Given the description of an element on the screen output the (x, y) to click on. 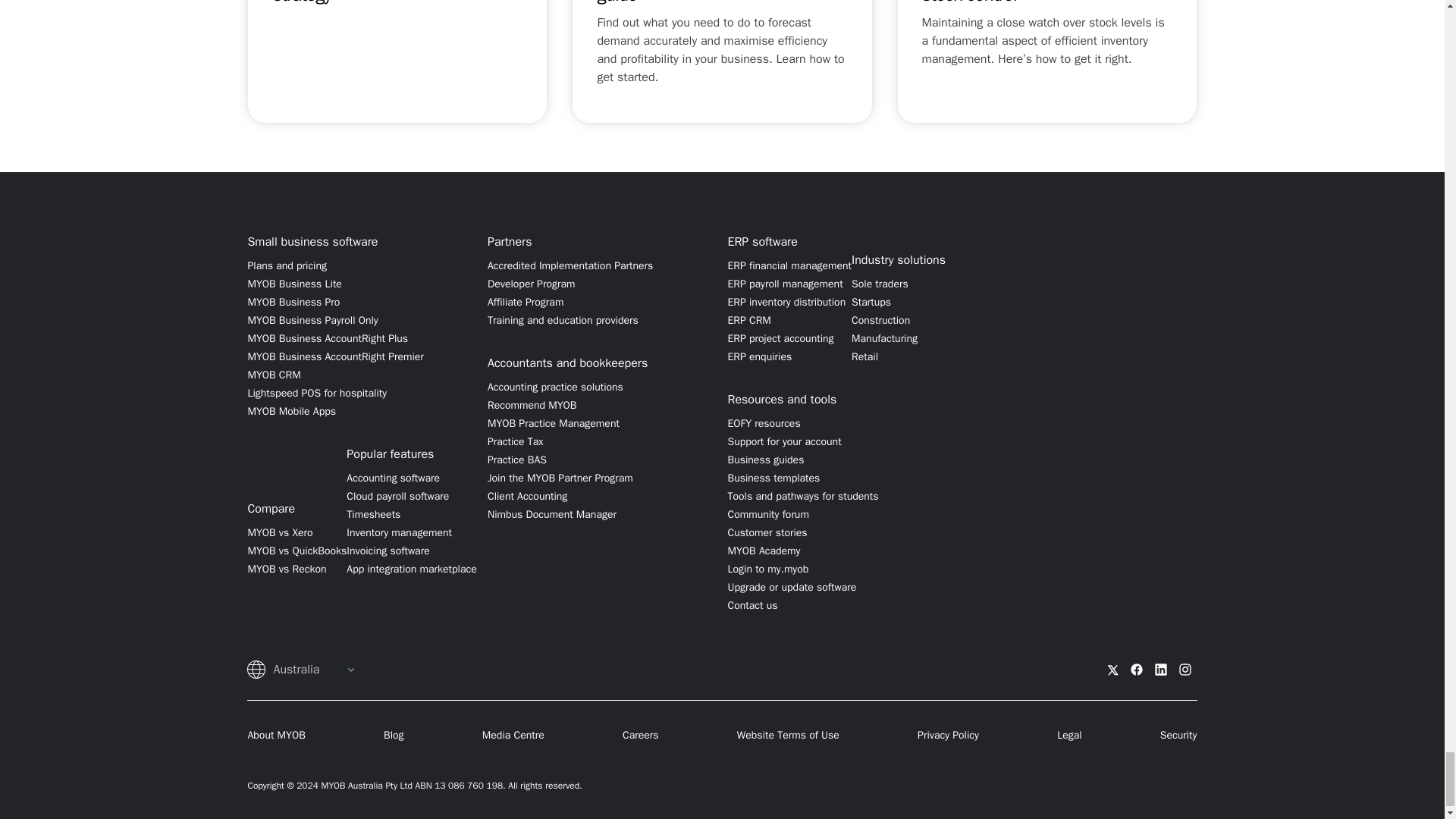
Blog (394, 735)
Careers (641, 735)
Legal (1069, 735)
Instagram (1185, 669)
LinkedIn (1160, 669)
Twitter (1112, 669)
Media Centre (512, 735)
Security (1178, 735)
Privacy Policy (947, 735)
Facebook (1136, 669)
